Given the description of an element on the screen output the (x, y) to click on. 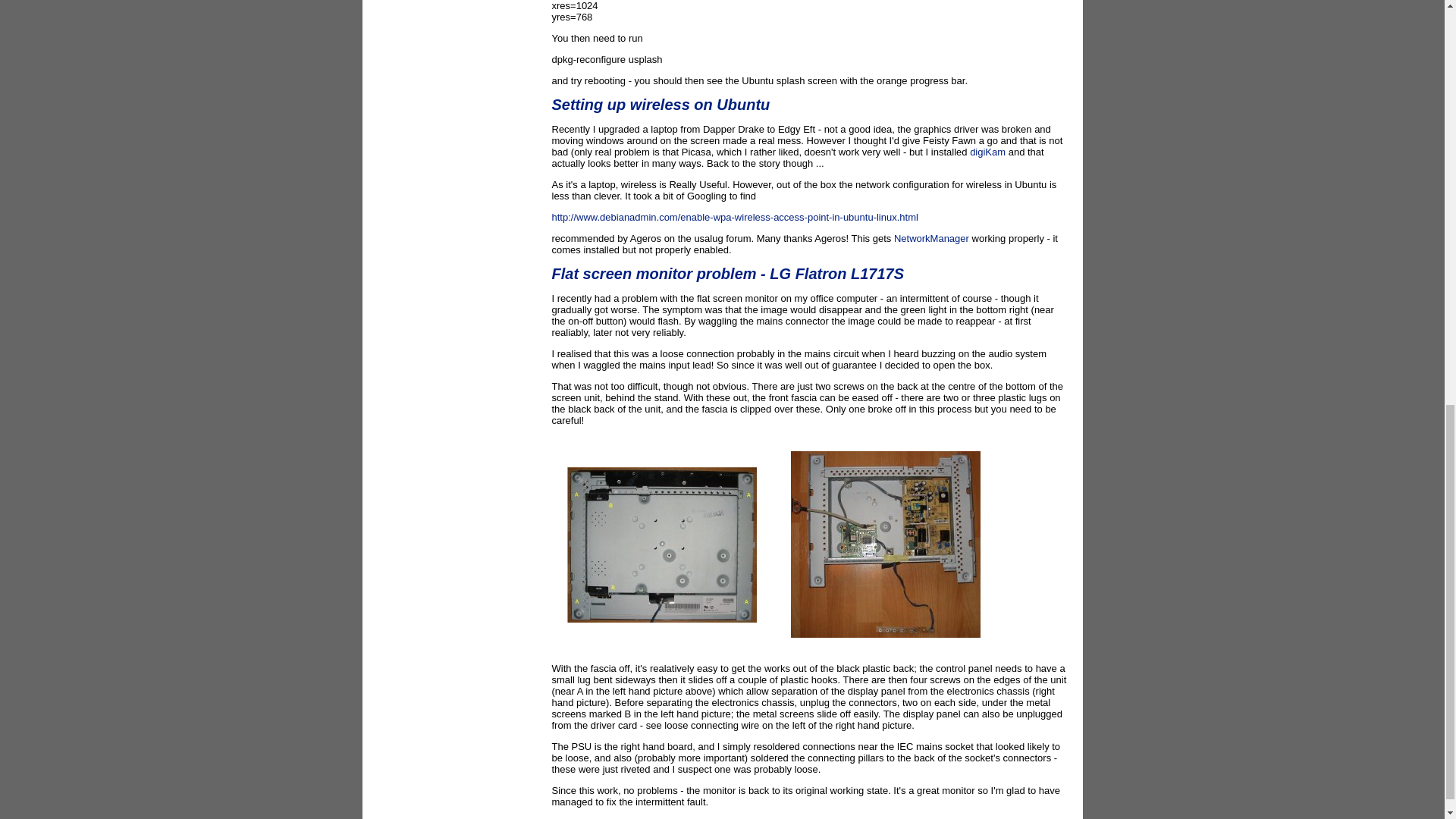
digiKam (987, 152)
NetworkManager (931, 238)
